Given the description of an element on the screen output the (x, y) to click on. 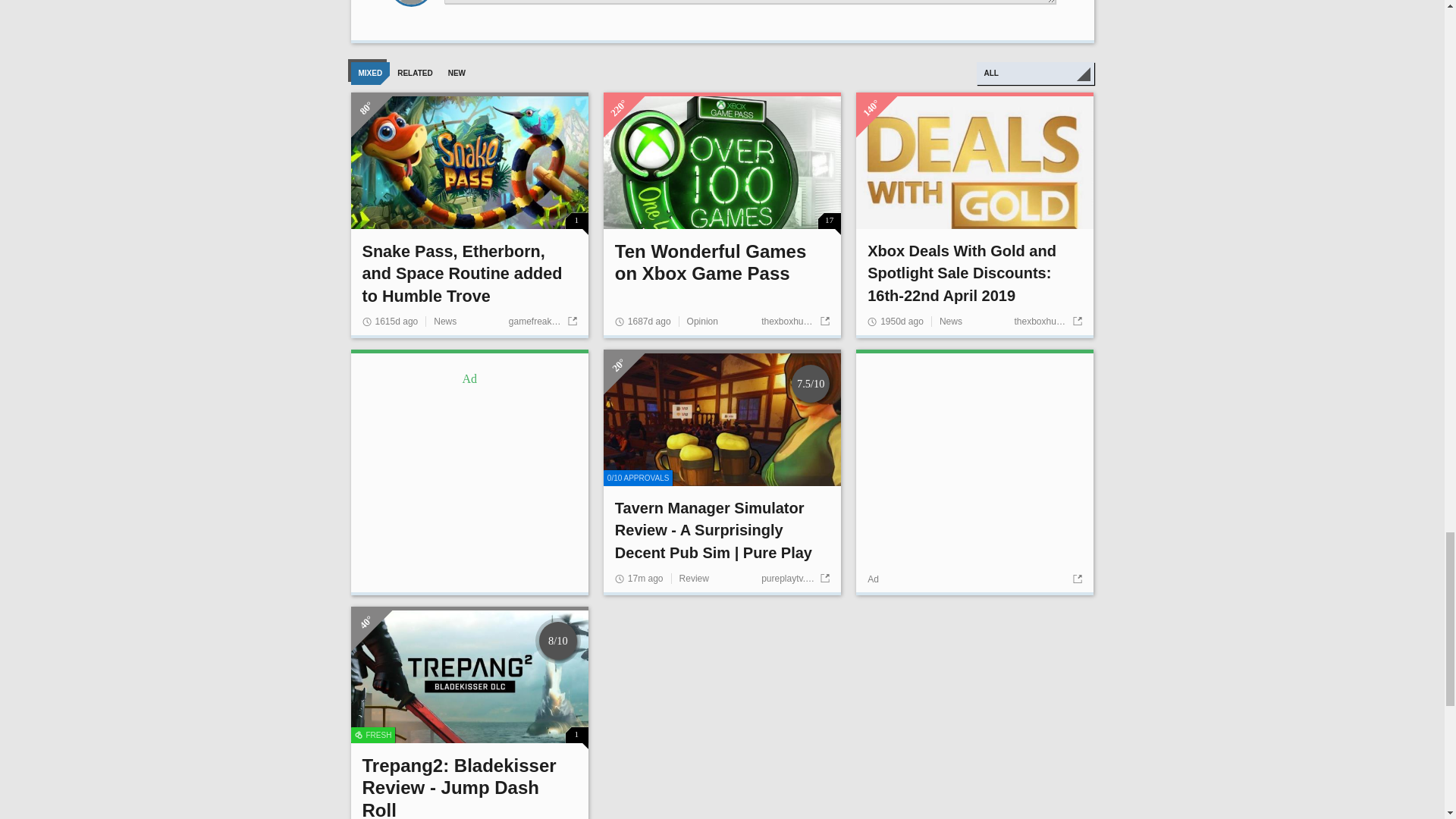
Go to source: thexboxhub.com (795, 321)
Go to source (1074, 579)
Go to source: gamefreaks365.com (542, 321)
Go to source: pureplaytv.com (795, 578)
Go to source: thexboxhub.com (1047, 321)
